Given the description of an element on the screen output the (x, y) to click on. 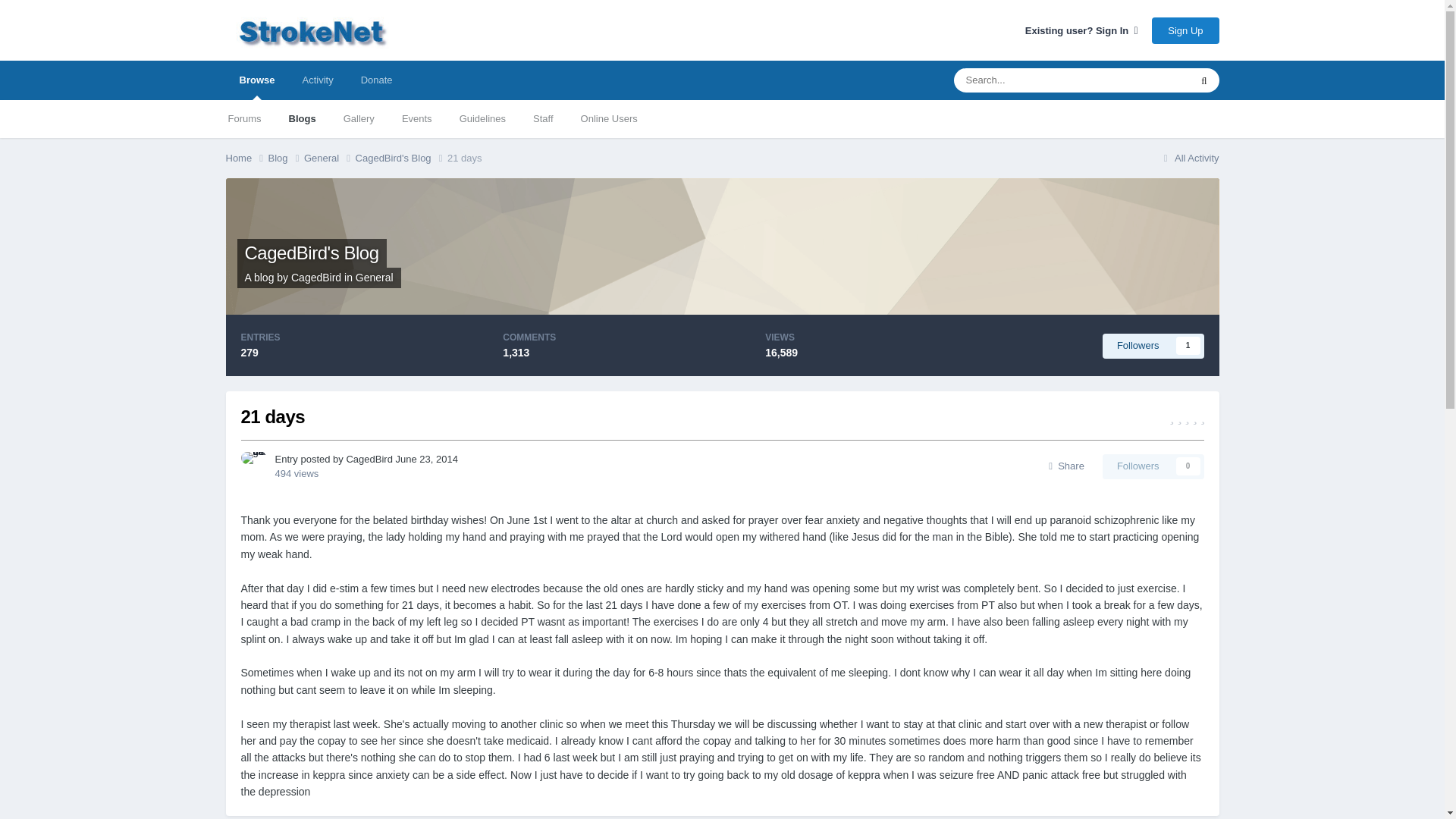
Gallery (359, 118)
CagedBird's Blog (400, 158)
Activity (317, 79)
Sign in to follow this (1153, 345)
CagedBird (315, 277)
Sign in to follow this (1153, 466)
Events (416, 118)
Blogs (302, 118)
Guidelines (482, 118)
Donate (376, 79)
Home (246, 158)
General (1153, 345)
Browse (329, 158)
CagedBird (256, 79)
